Given the description of an element on the screen output the (x, y) to click on. 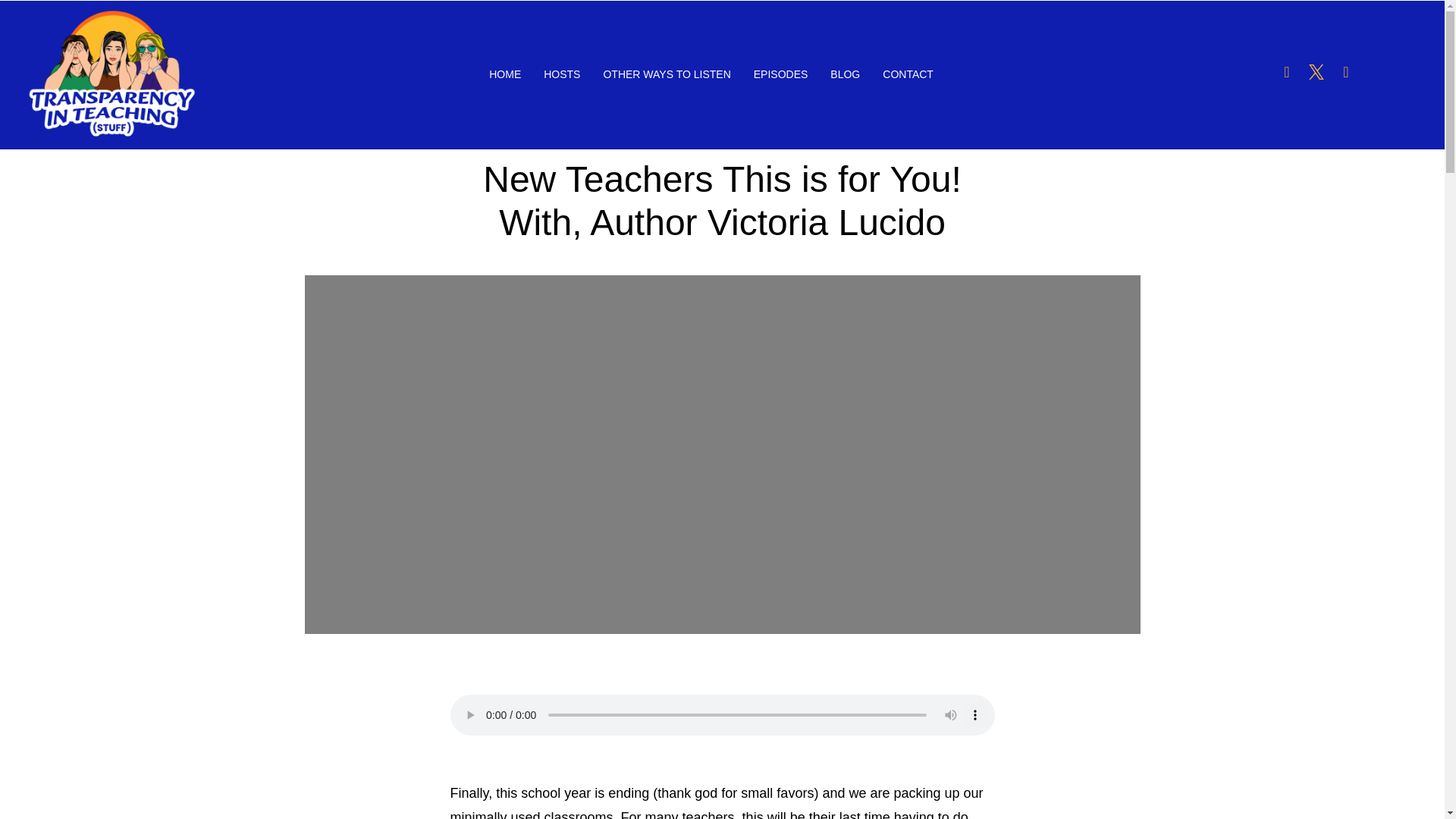
EPISODES (780, 75)
HOME (504, 75)
CONTACT (907, 75)
OTHER WAYS TO LISTEN (666, 75)
HOSTS (561, 75)
